Given the description of an element on the screen output the (x, y) to click on. 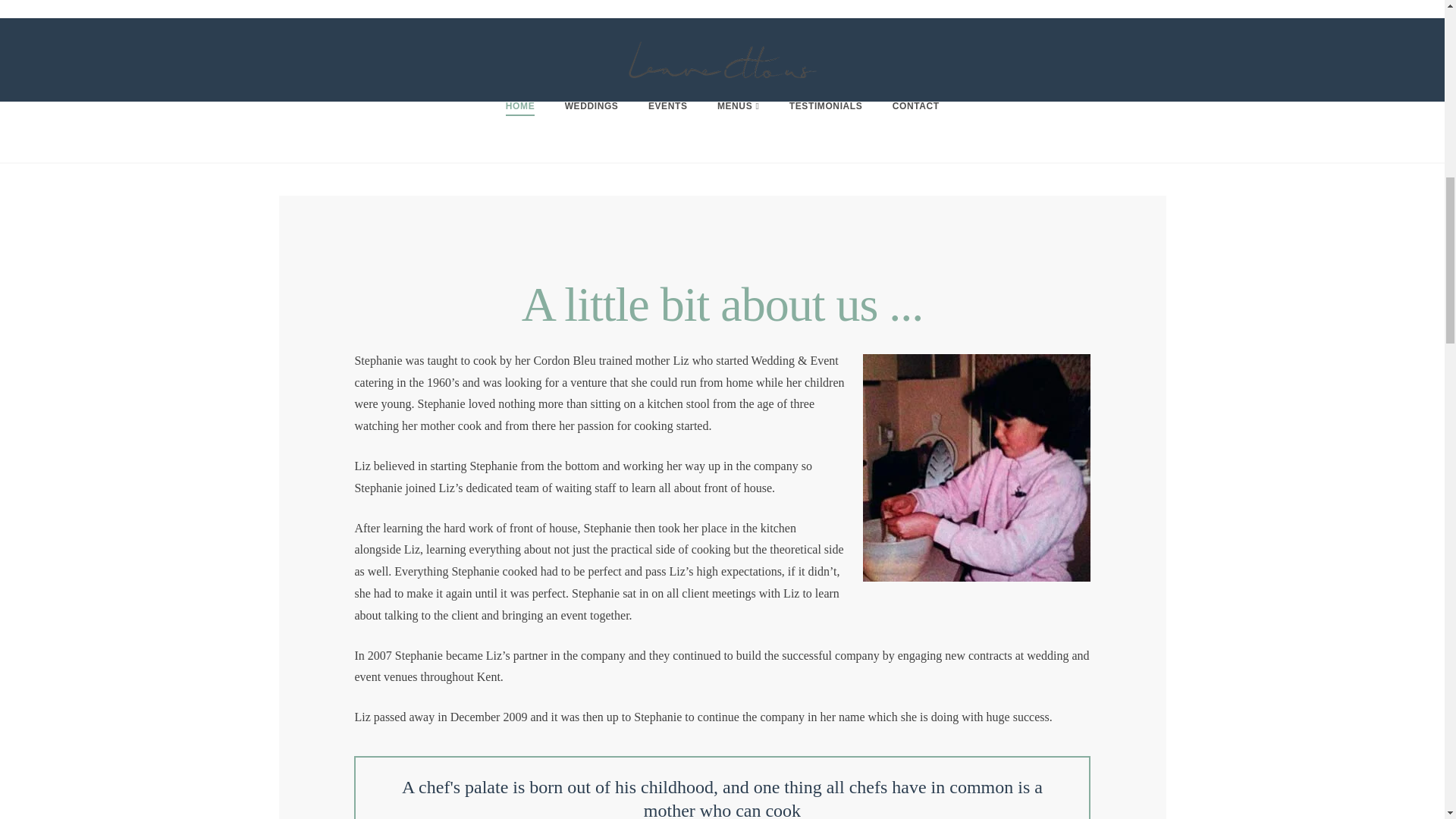
TESTIMONIALS (825, 131)
HOME (520, 131)
WEDDINGS (591, 131)
MENUS (737, 131)
EVENTS (667, 131)
CONTACT (915, 131)
